Given the description of an element on the screen output the (x, y) to click on. 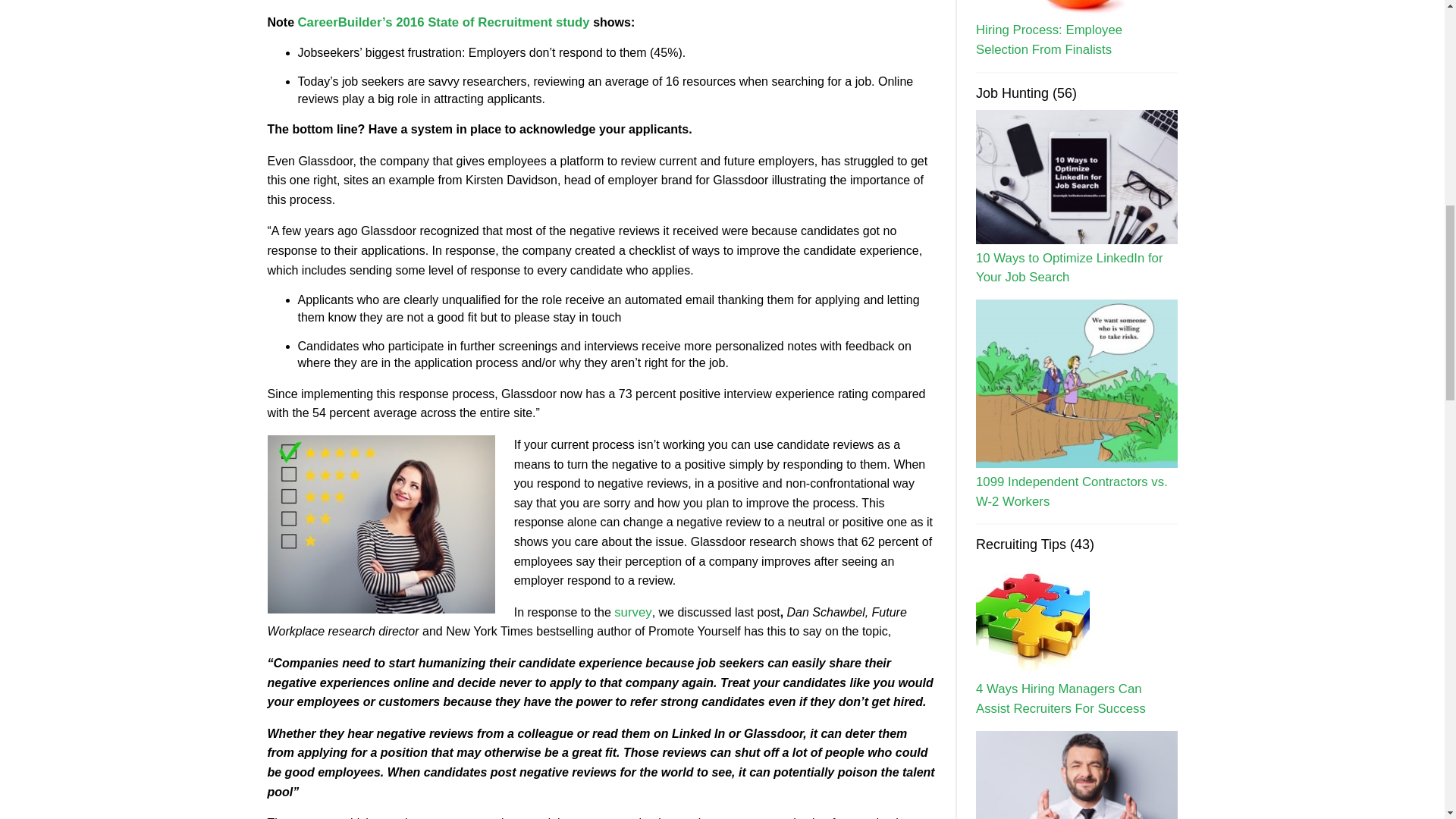
survey (632, 612)
